Given the description of an element on the screen output the (x, y) to click on. 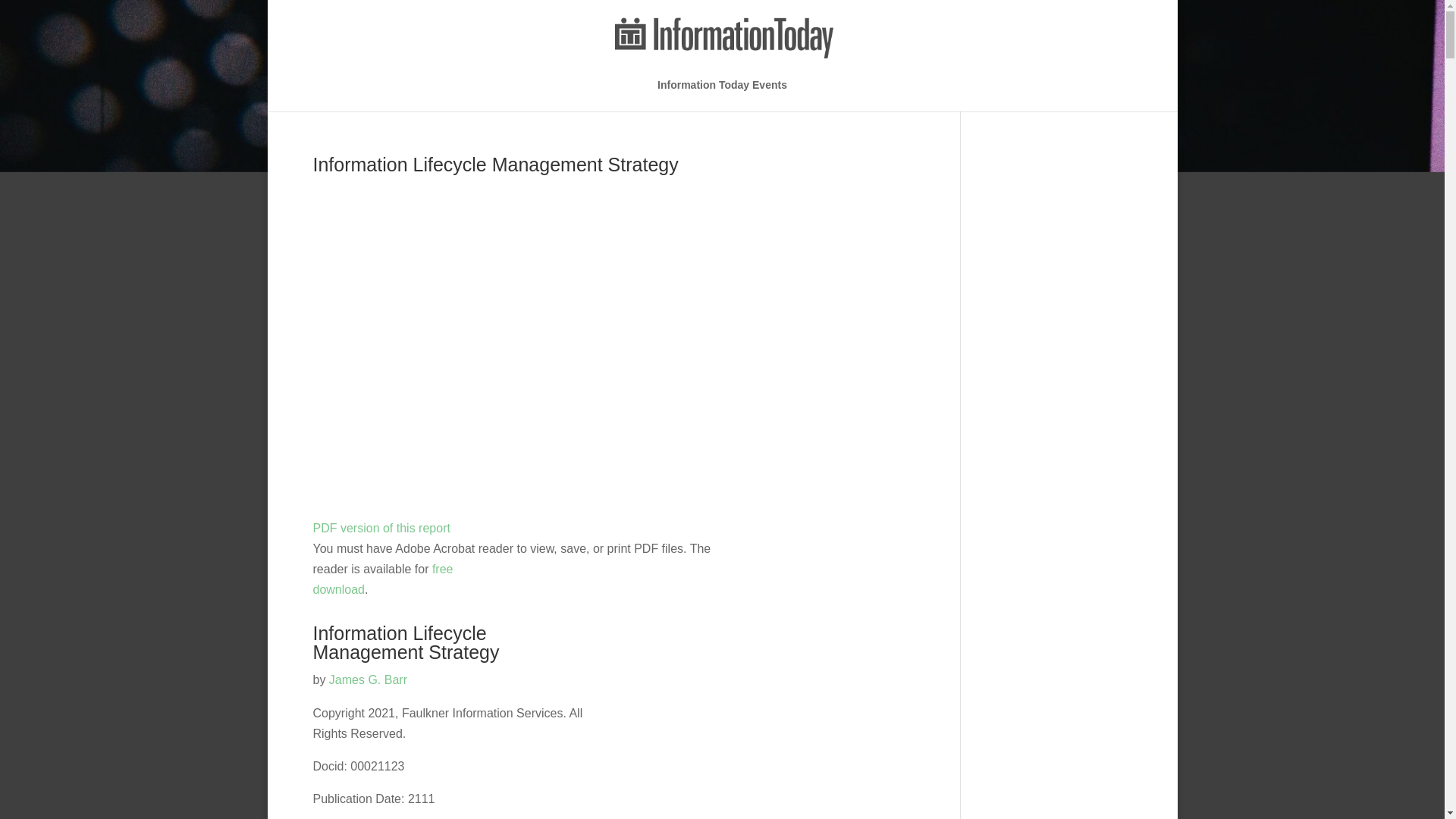
James G. Barr (368, 679)
PDF version of this report (382, 579)
Information Today Events (381, 527)
